Given the description of an element on the screen output the (x, y) to click on. 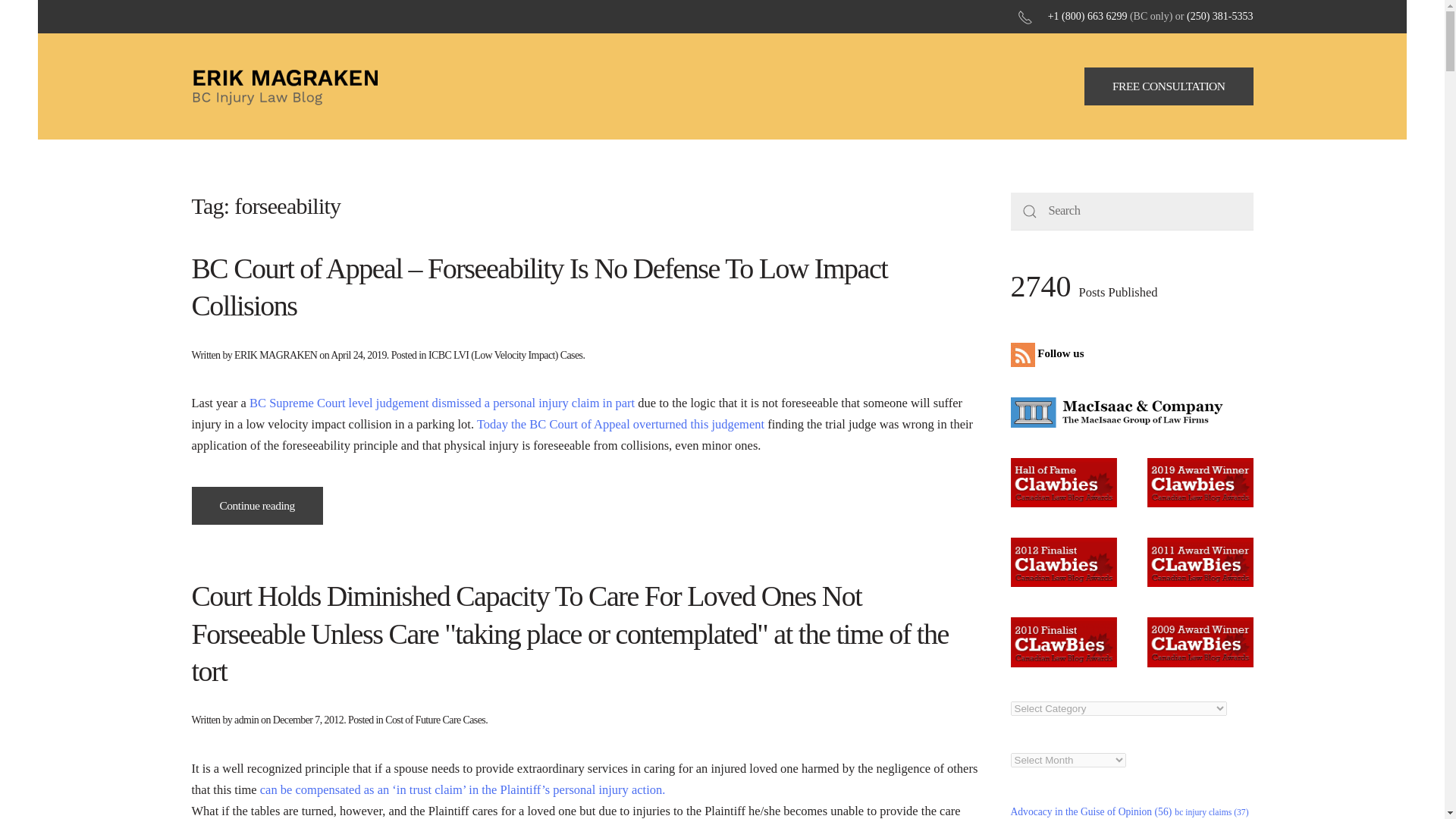
admin (246, 719)
Cost of Future Care Cases (434, 719)
Continue reading (255, 505)
FREE CONSULTATION (1168, 86)
ERIK MAGRAKEN (275, 355)
Today the BC Court of Appeal overturned this judgement (620, 423)
